Given the description of an element on the screen output the (x, y) to click on. 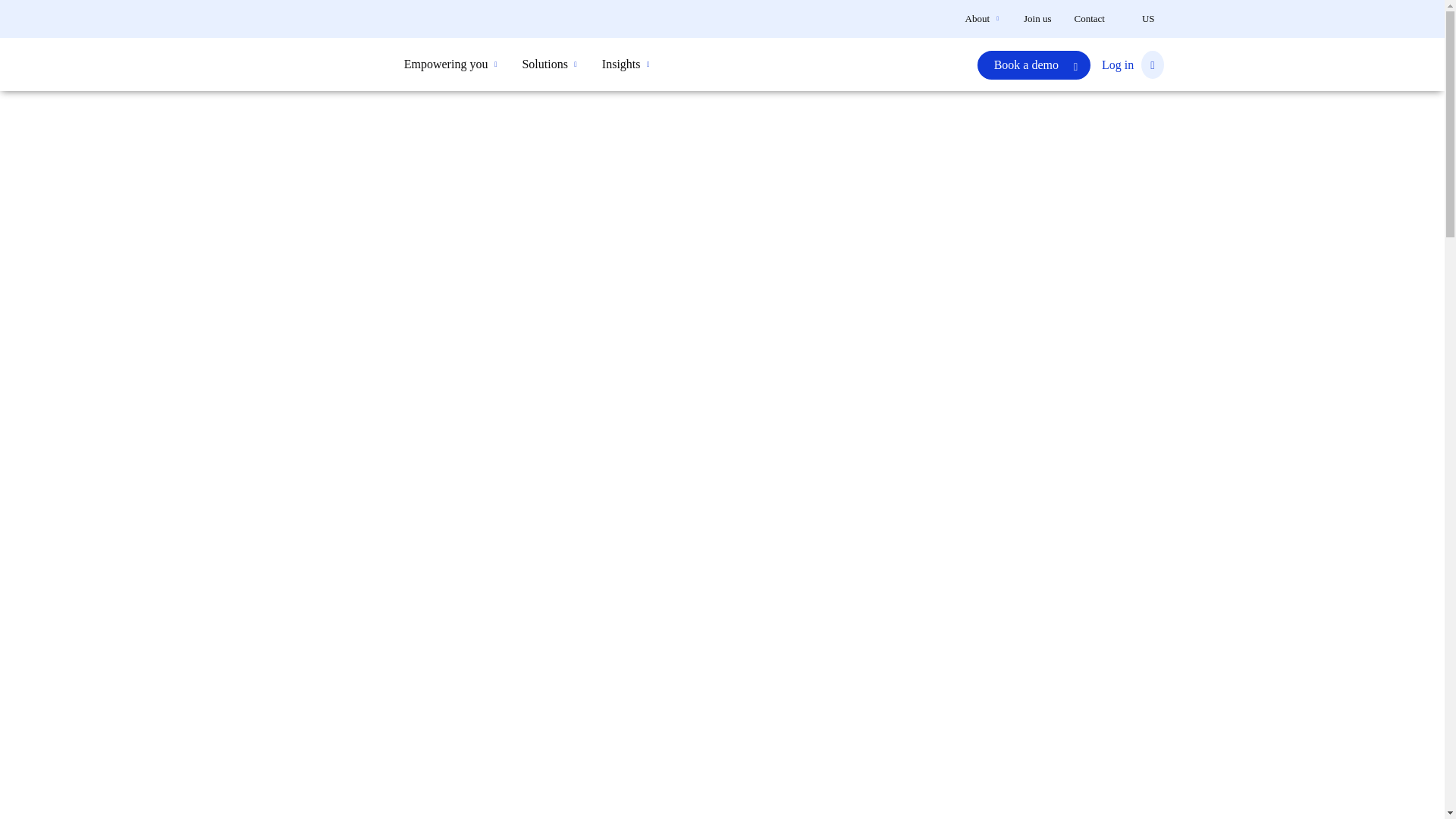
Solutions (548, 64)
Book a demo (1033, 64)
Empowering you (449, 64)
About (981, 18)
Contact (1089, 18)
Join us (1036, 18)
Log in (1128, 64)
Insights (625, 64)
